Given the description of an element on the screen output the (x, y) to click on. 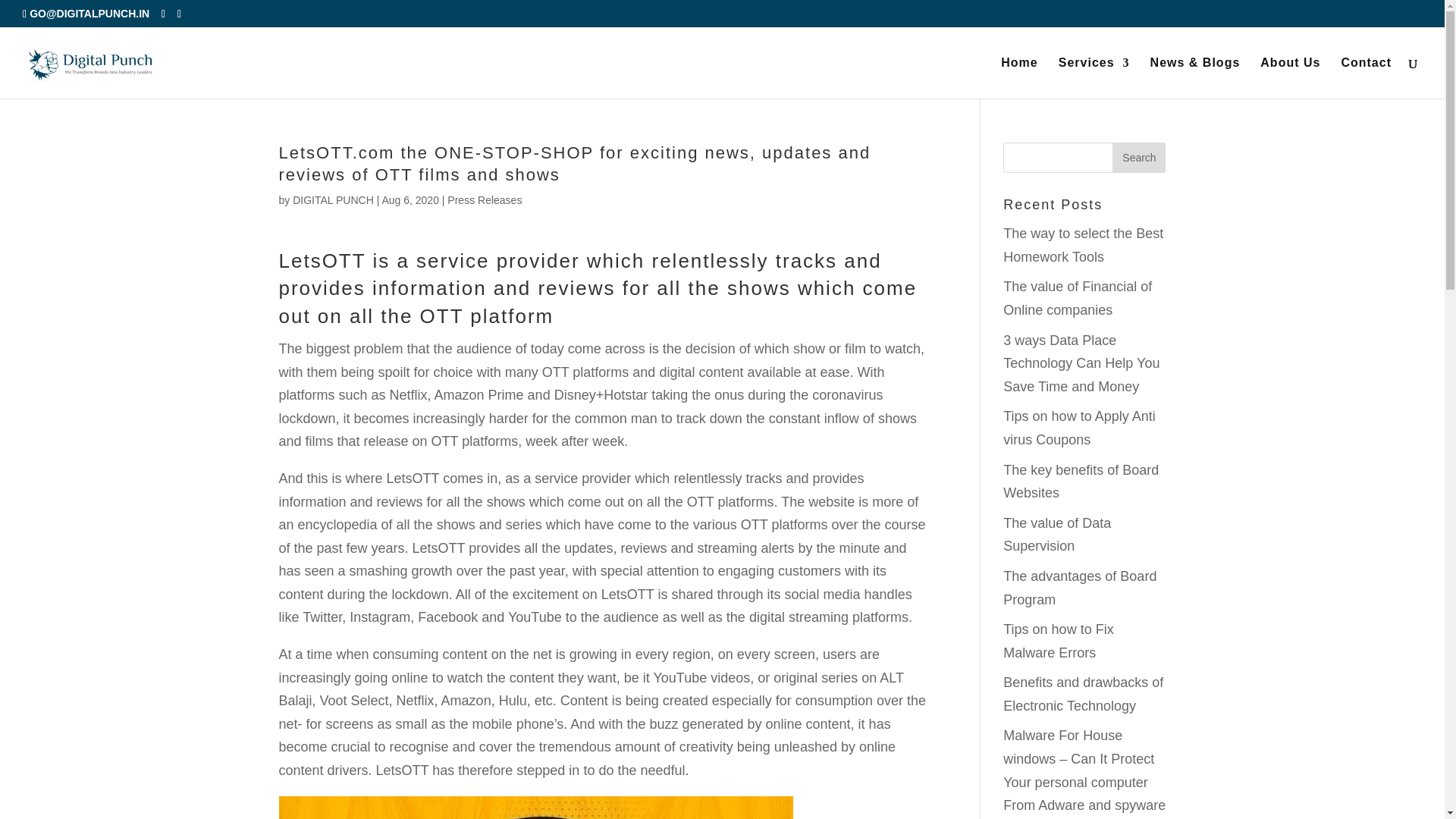
Search (1139, 157)
Posts by DIGITAL PUNCH (333, 200)
DIGITAL PUNCH (333, 200)
Contact (1365, 77)
Press Releases (483, 200)
Home (1018, 77)
Services (1093, 77)
The way to select the Best Homework Tools (1083, 245)
Search (1139, 157)
The value of Financial of Online companies (1077, 298)
About Us (1290, 77)
